Given the description of an element on the screen output the (x, y) to click on. 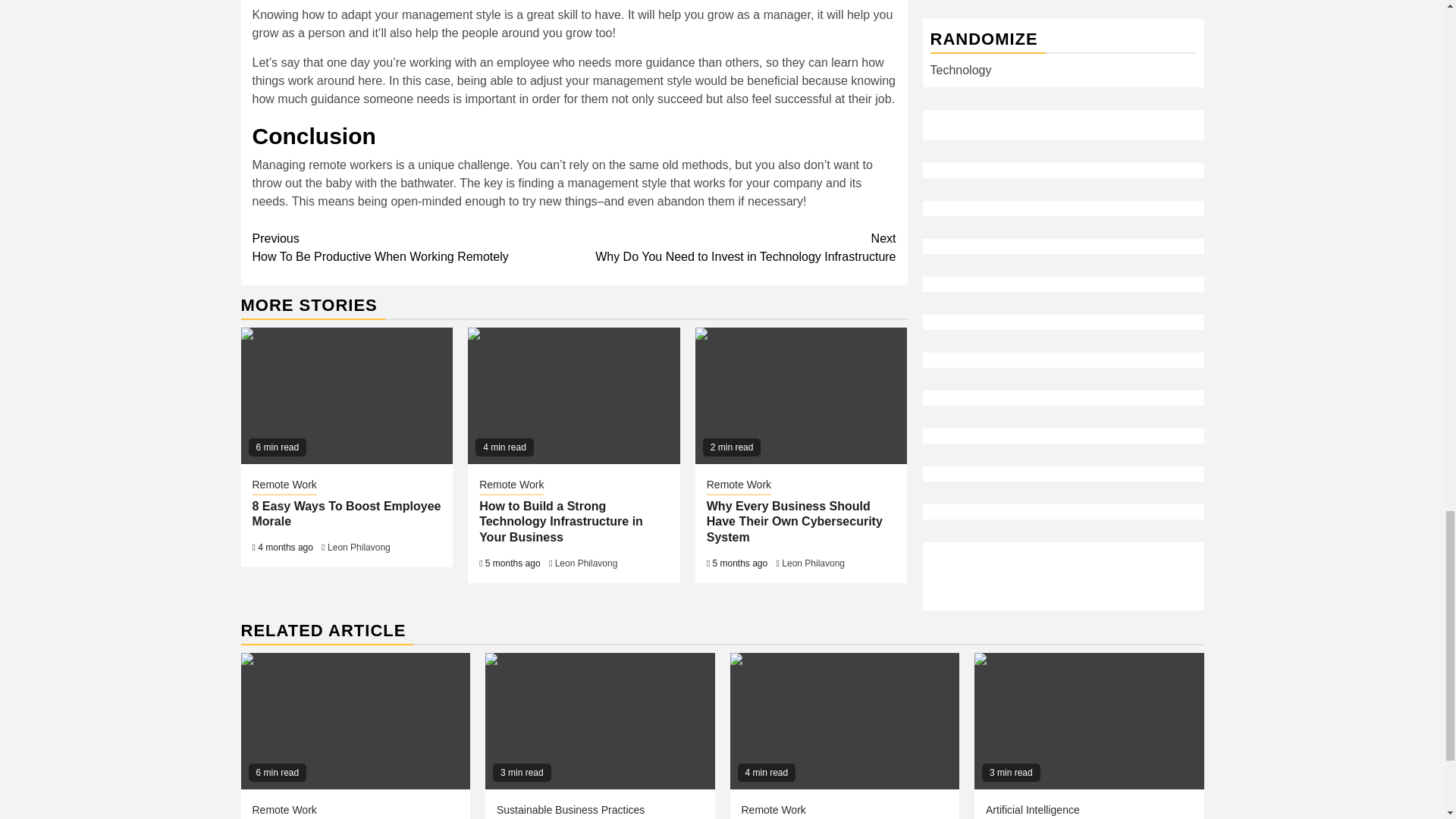
Remote Work (283, 485)
8 Easy Ways To Boost Employee Morale (346, 395)
8 Easy Ways To Boost Employee Morale (346, 513)
